Given the description of an element on the screen output the (x, y) to click on. 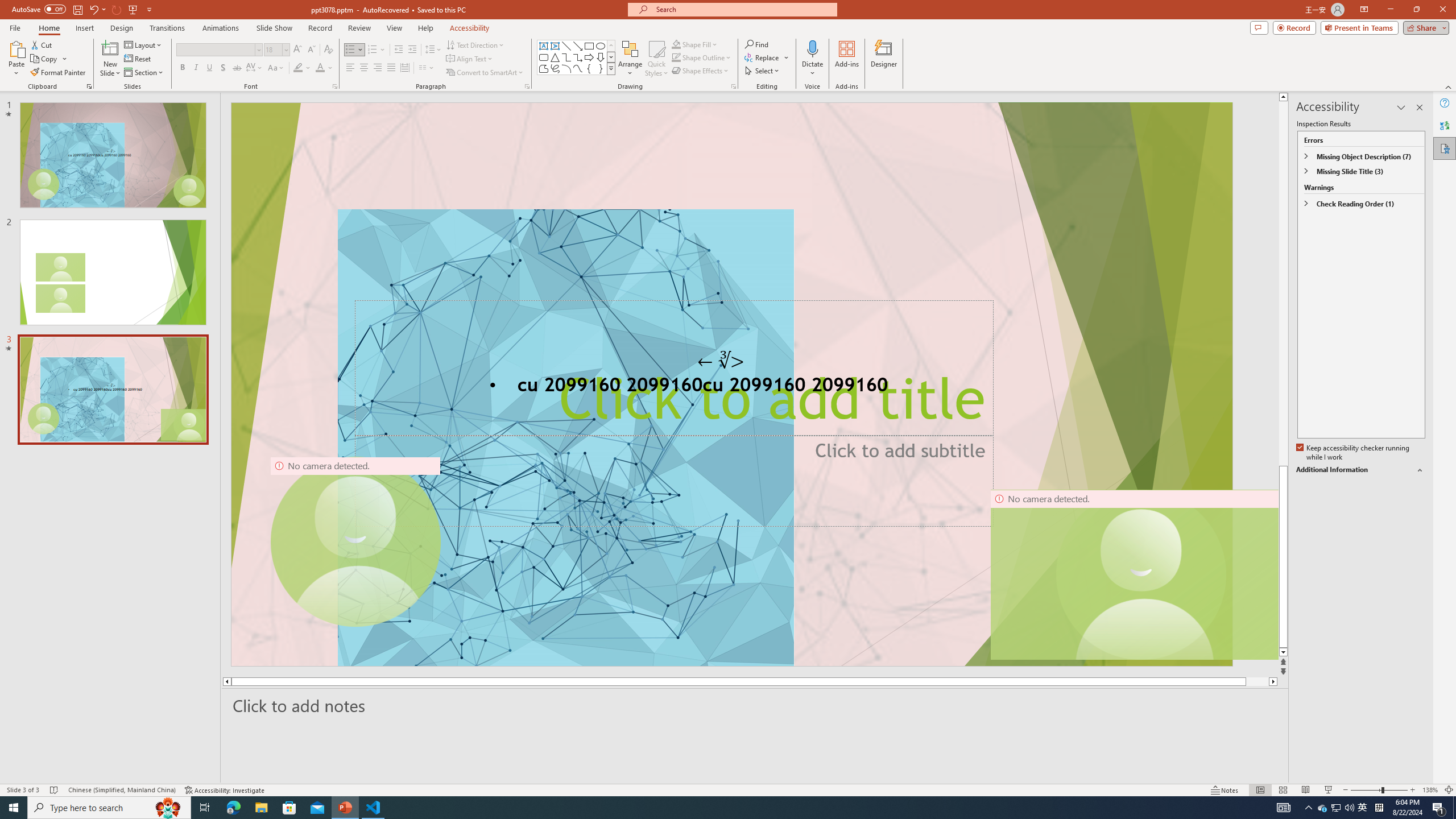
An abstract genetic concept (731, 384)
